Given the description of an element on the screen output the (x, y) to click on. 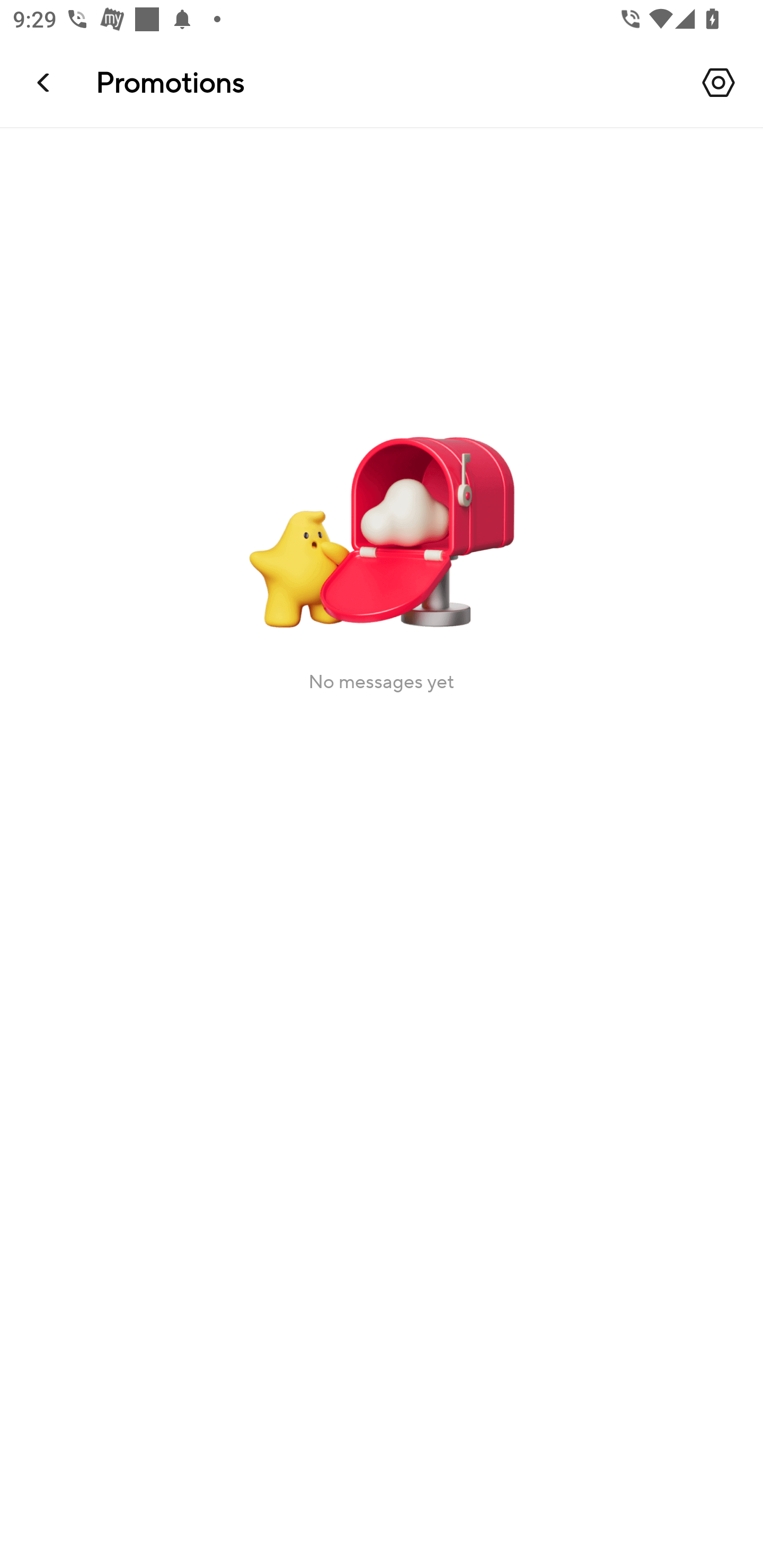
Navigate up (44, 82)
